Given the description of an element on the screen output the (x, y) to click on. 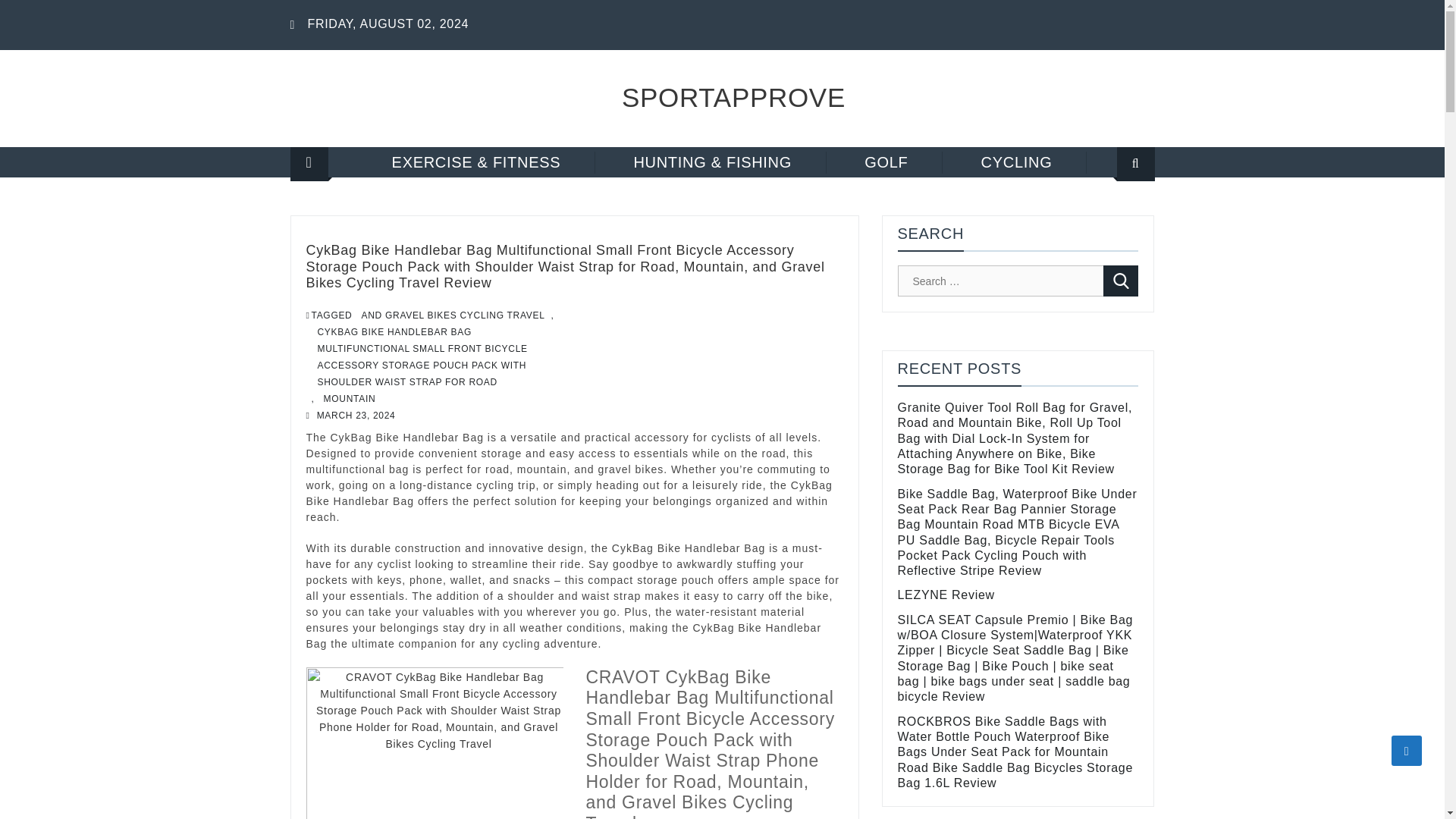
MOUNTAIN (349, 398)
CYCLING (1017, 162)
Search (1116, 211)
Search (1120, 280)
Search (1120, 280)
GOLF (885, 162)
AND GRAVEL BIKES CYCLING TRAVEL (453, 315)
MARCH 23, 2024 (356, 415)
SPORTAPPROVE (733, 97)
